Given the description of an element on the screen output the (x, y) to click on. 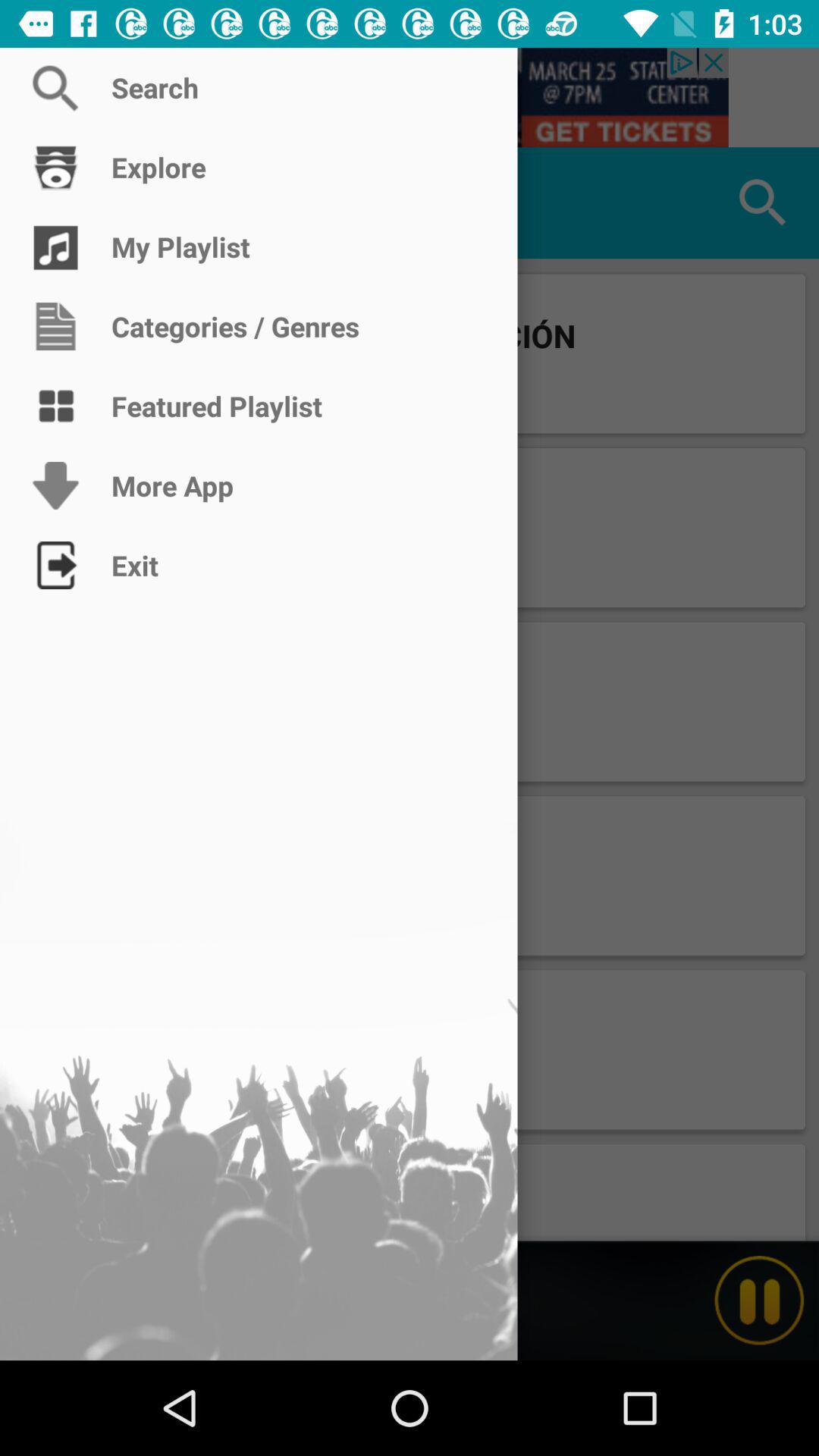
go to popular page (55, 202)
